Given the description of an element on the screen output the (x, y) to click on. 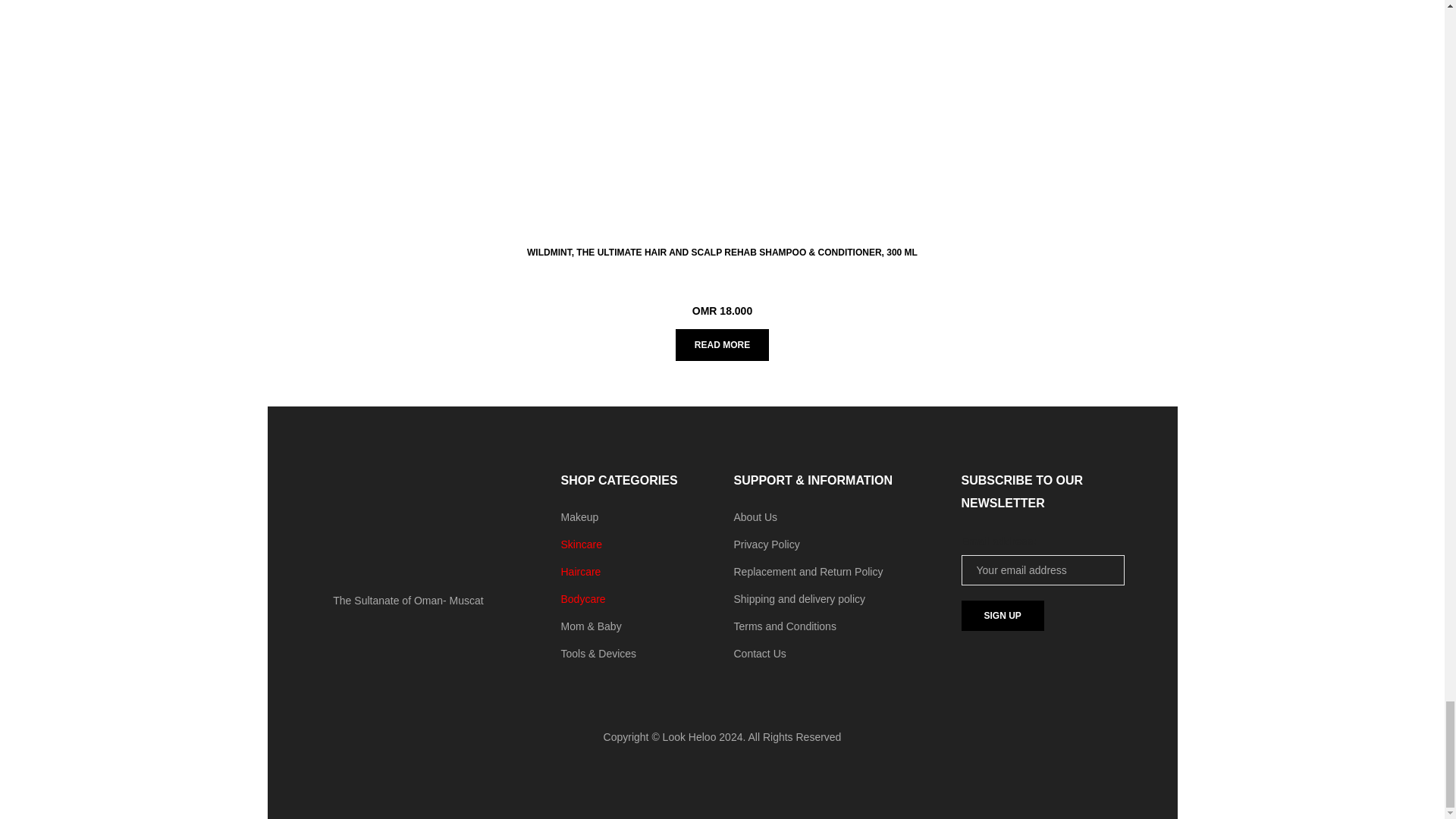
Sign up (1001, 615)
